Given the description of an element on the screen output the (x, y) to click on. 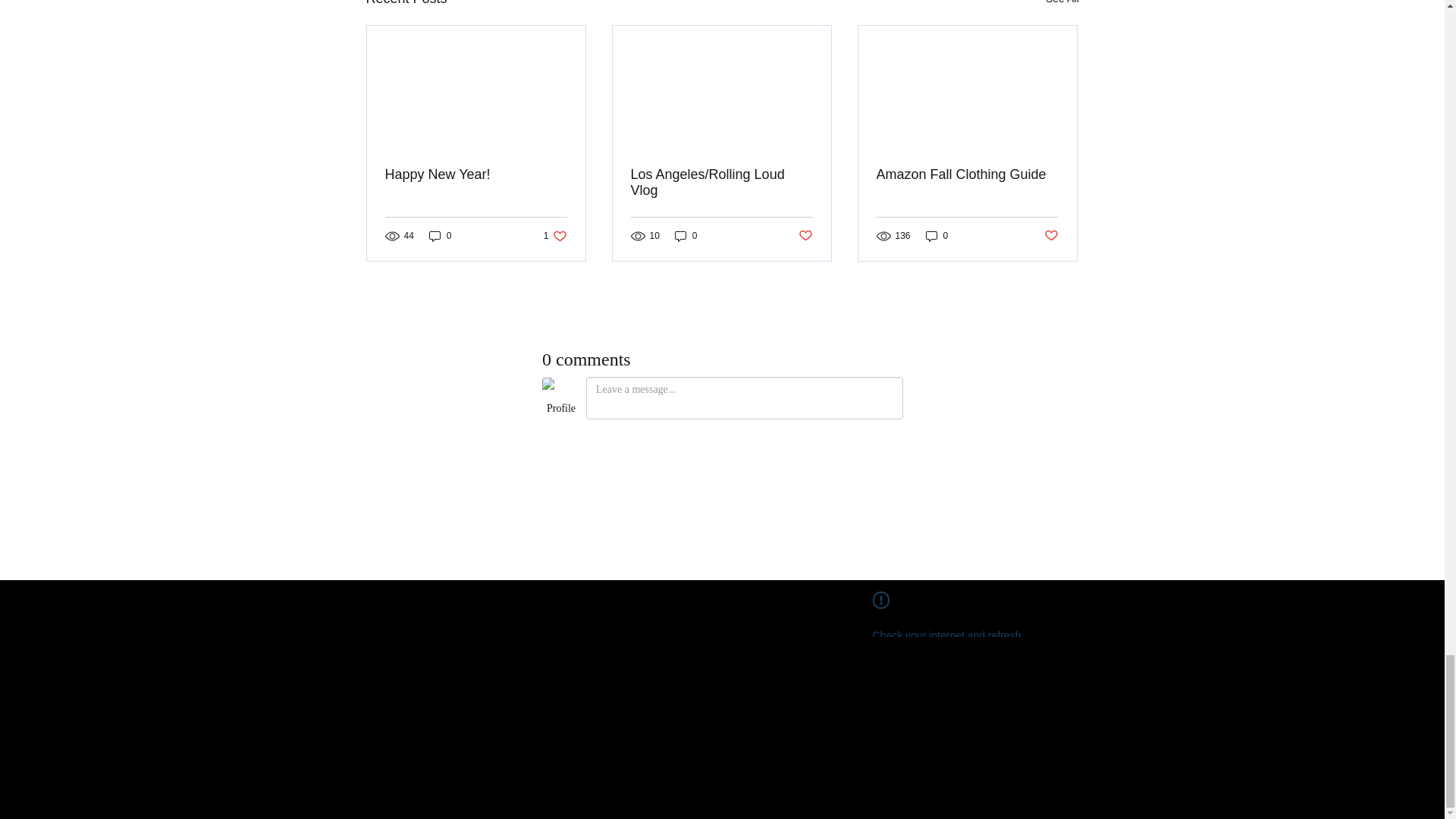
Comments (721, 451)
